Given the description of an element on the screen output the (x, y) to click on. 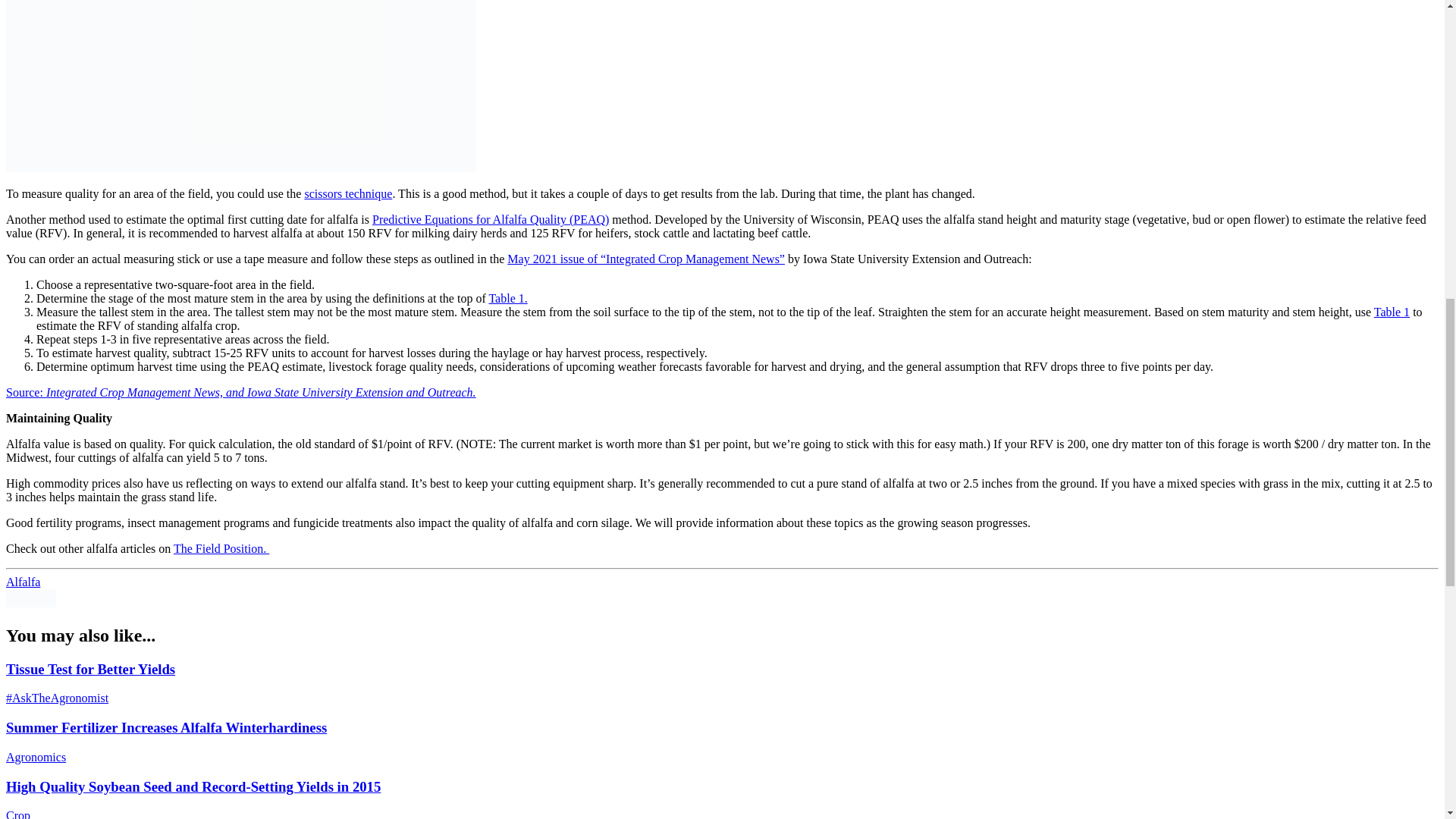
scissors technique (347, 193)
Table 1 (1391, 311)
Table 1. (507, 297)
The Field Position.  (221, 548)
Alfalfa (22, 581)
